Given the description of an element on the screen output the (x, y) to click on. 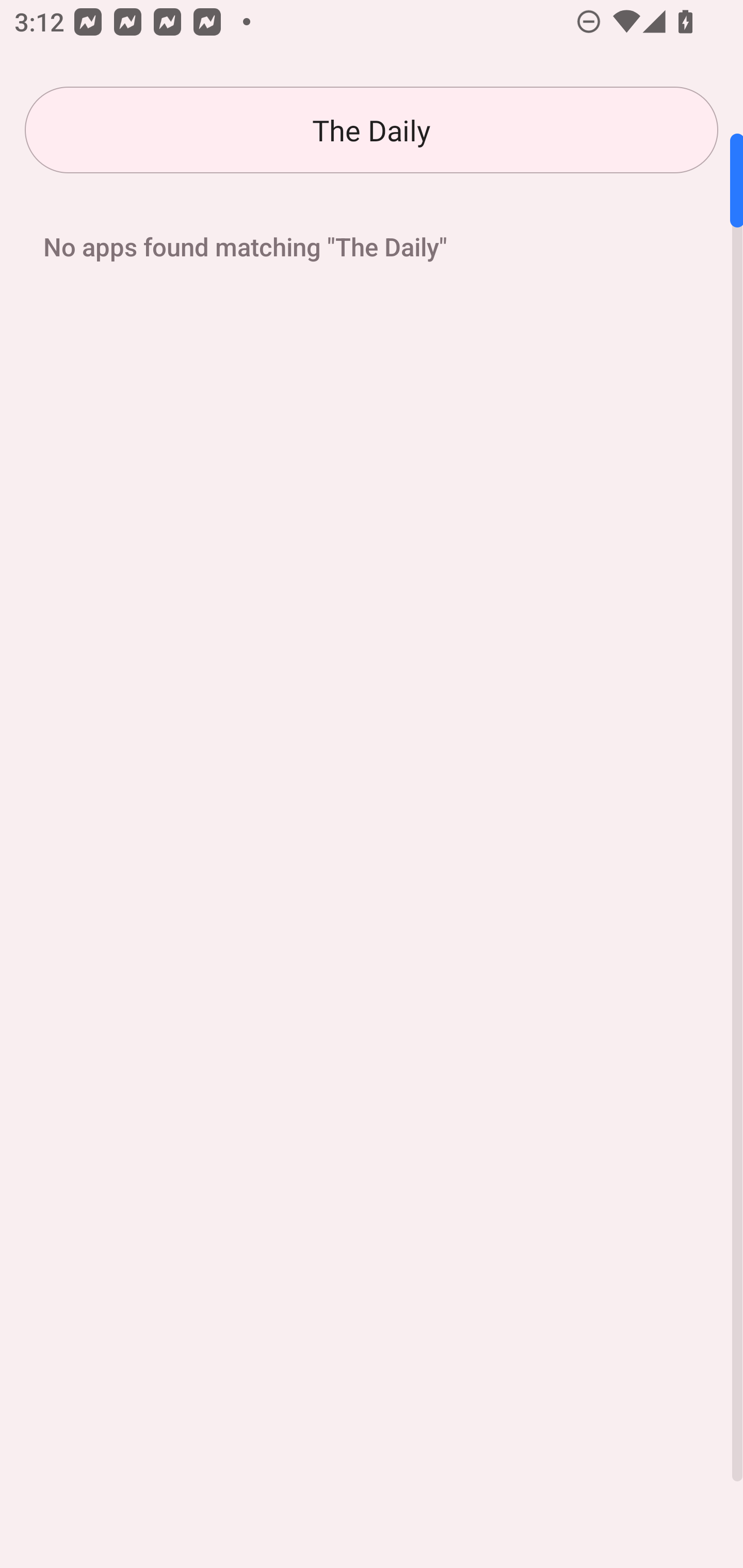
The Daily (371, 130)
